Given the description of an element on the screen output the (x, y) to click on. 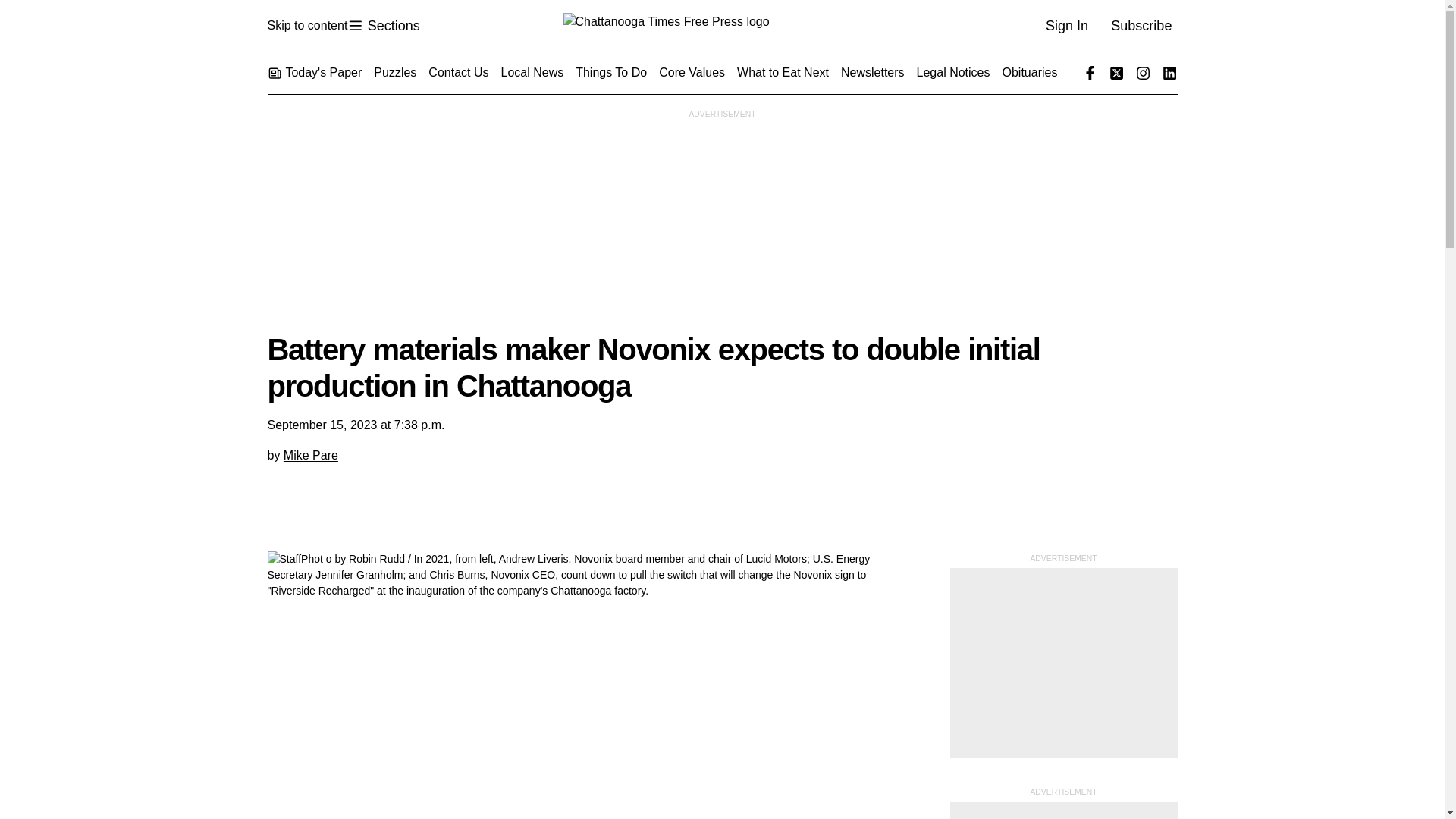
Times Free Press (721, 25)
Skip to content (383, 25)
